Given the description of an element on the screen output the (x, y) to click on. 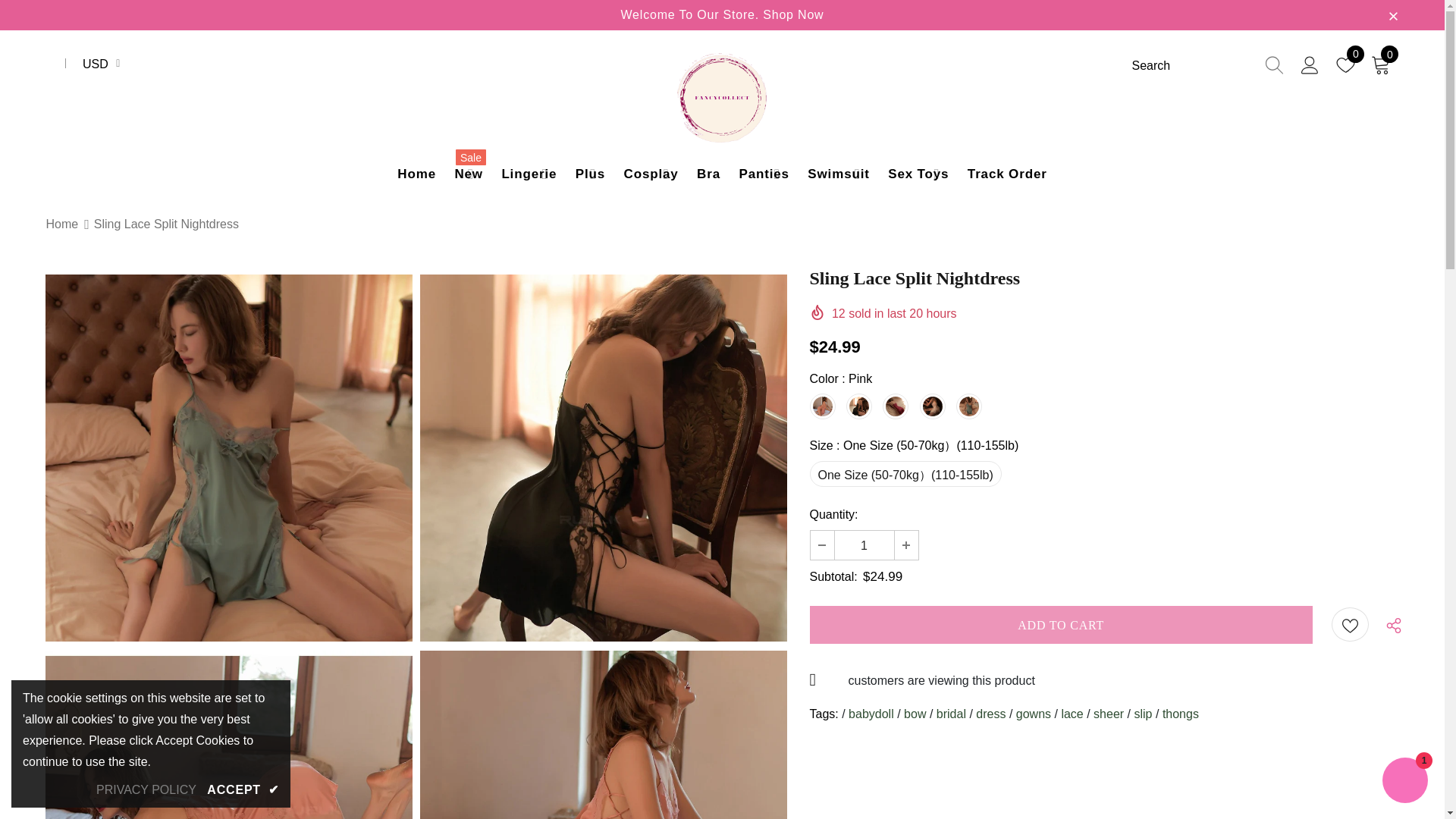
1 (863, 544)
user (1310, 65)
Add to cart (1061, 624)
Shop Now (793, 15)
close (1393, 14)
